Given the description of an element on the screen output the (x, y) to click on. 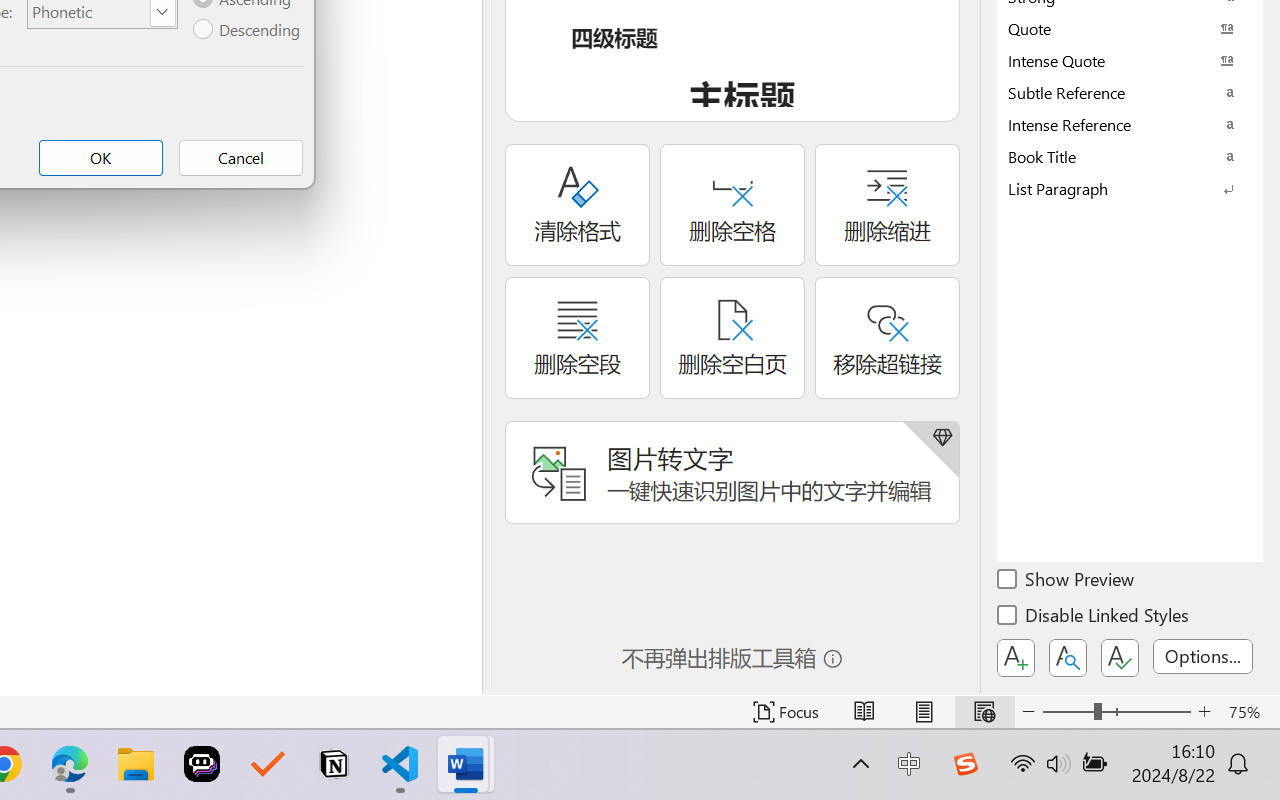
Options... (1203, 656)
List Paragraph (1130, 188)
Class: NetUIImage (1116, 188)
Subtle Reference (1130, 92)
Zoom Out (1067, 712)
Notion (333, 764)
Show Preview (1067, 582)
Read Mode (864, 712)
